Given the description of an element on the screen output the (x, y) to click on. 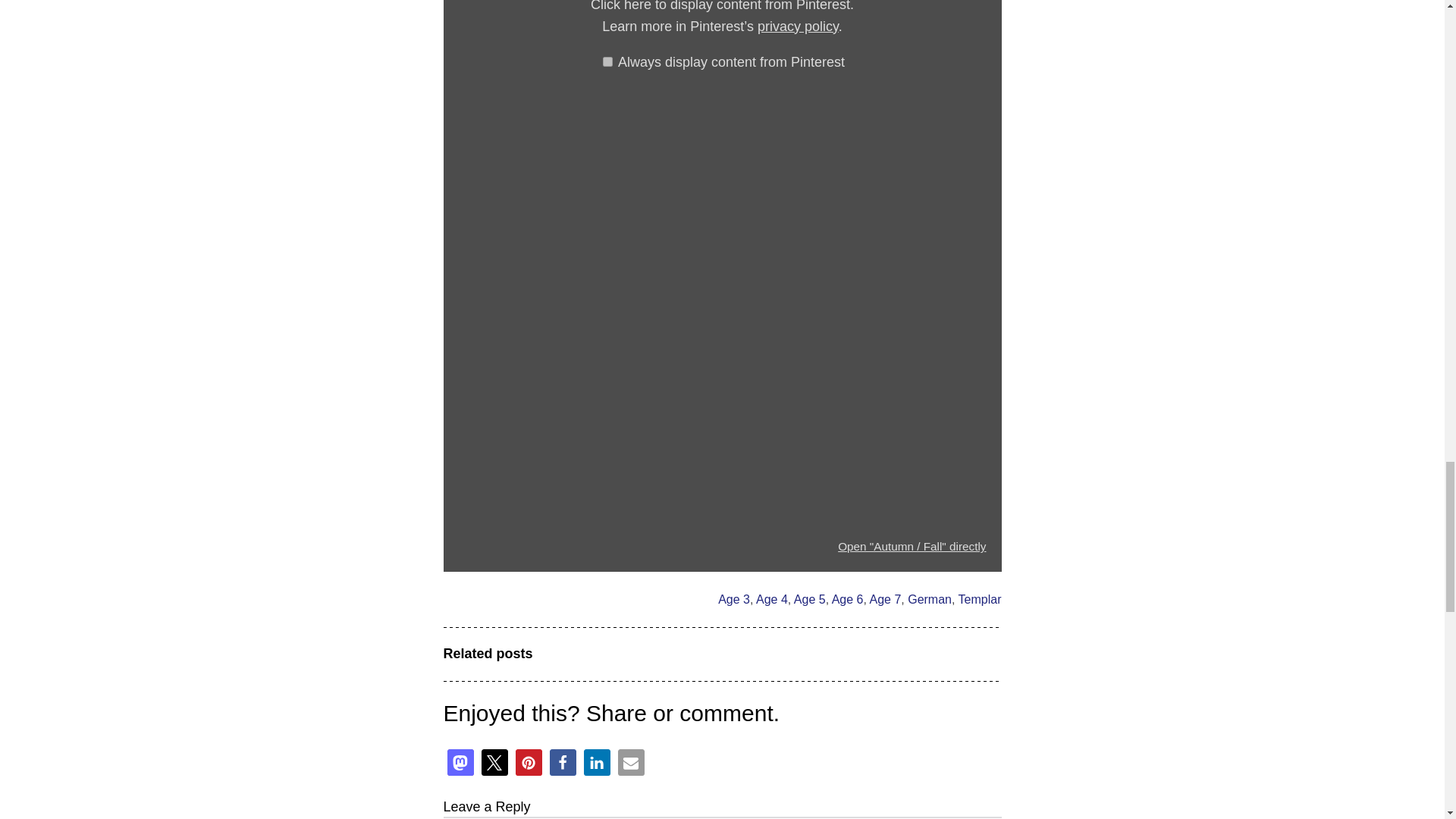
Share on Facebook (561, 762)
Pin it on Pinterest (528, 762)
Share on LinkedIn (596, 762)
Share on Mastodon (460, 762)
Send by email (630, 762)
Share on X (493, 762)
1 (607, 61)
